Given the description of an element on the screen output the (x, y) to click on. 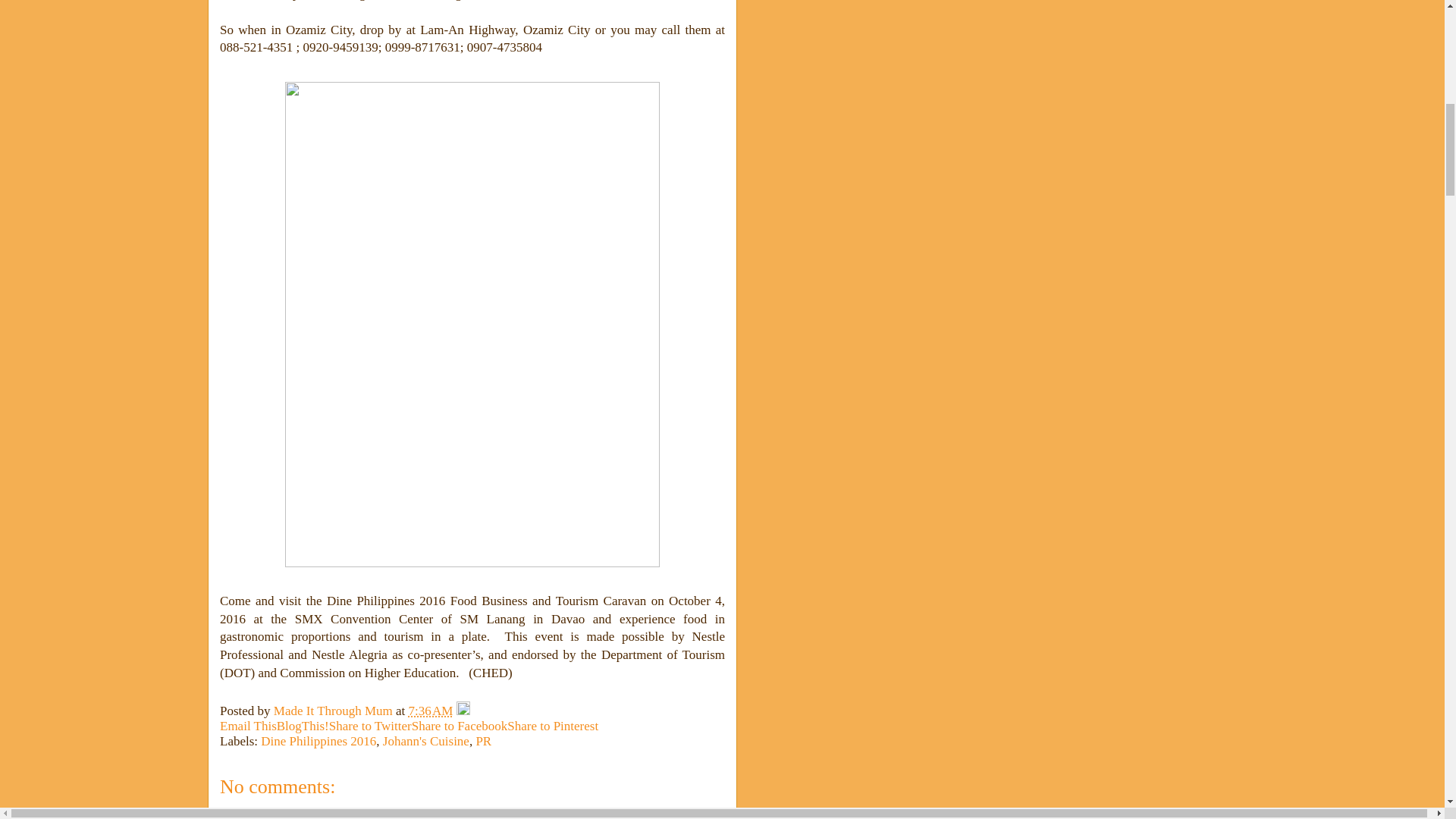
permanent link (430, 710)
Made It Through Mum (334, 710)
Share to Pinterest (552, 726)
Dine Philippines 2016 (317, 740)
Share to Pinterest (552, 726)
Share to Twitter (370, 726)
BlogThis! (302, 726)
Email This (247, 726)
Share to Facebook (460, 726)
BlogThis! (302, 726)
author profile (334, 710)
Johann's Cuisine (425, 740)
Share to Twitter (370, 726)
Share to Facebook (460, 726)
